Given the description of an element on the screen output the (x, y) to click on. 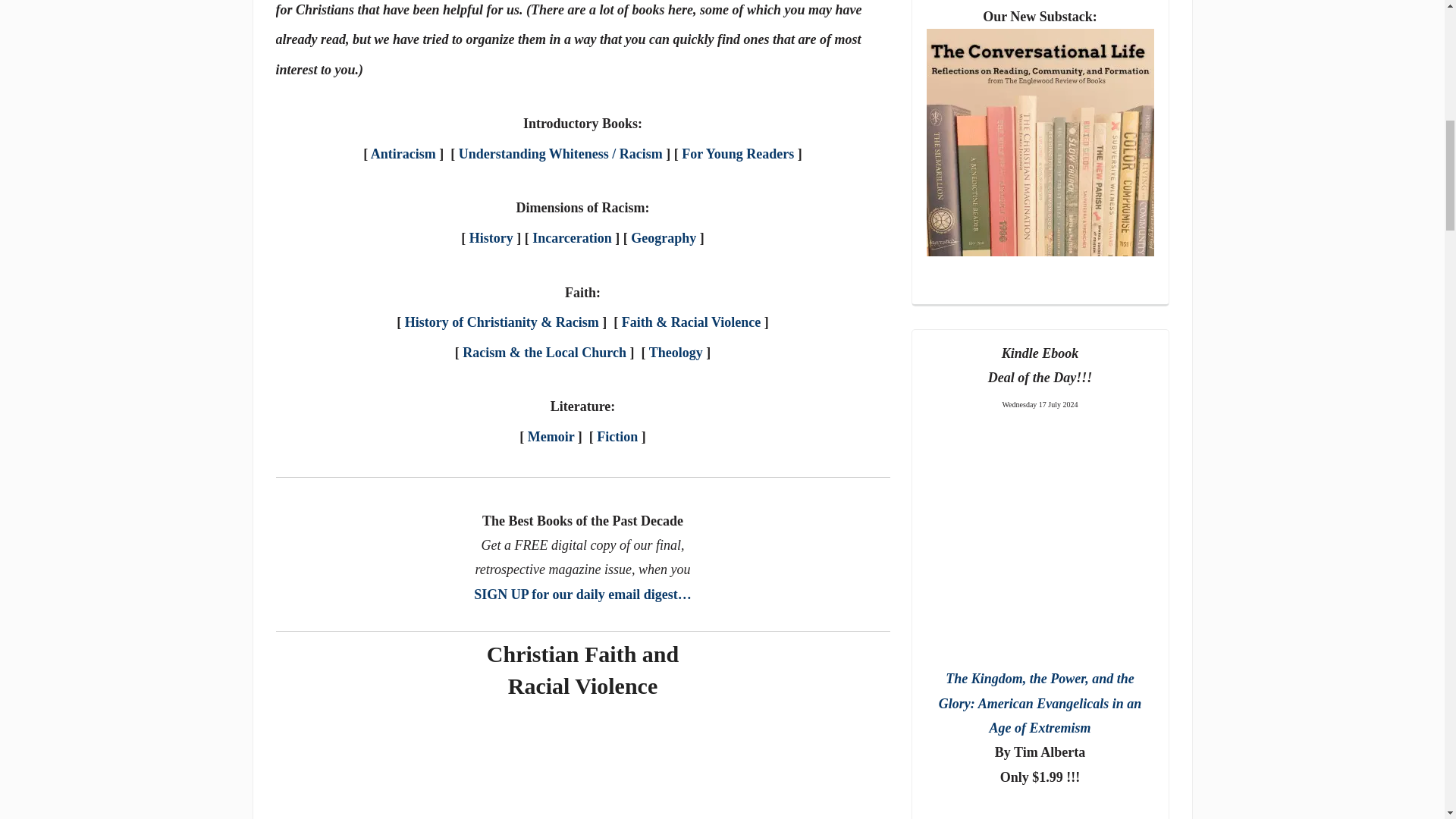
Theology (676, 352)
Incarceration (571, 237)
History (490, 237)
Fiction (616, 436)
For Young Readers (737, 153)
Memoir (551, 436)
Geography (662, 237)
Antiracism (403, 153)
